Given the description of an element on the screen output the (x, y) to click on. 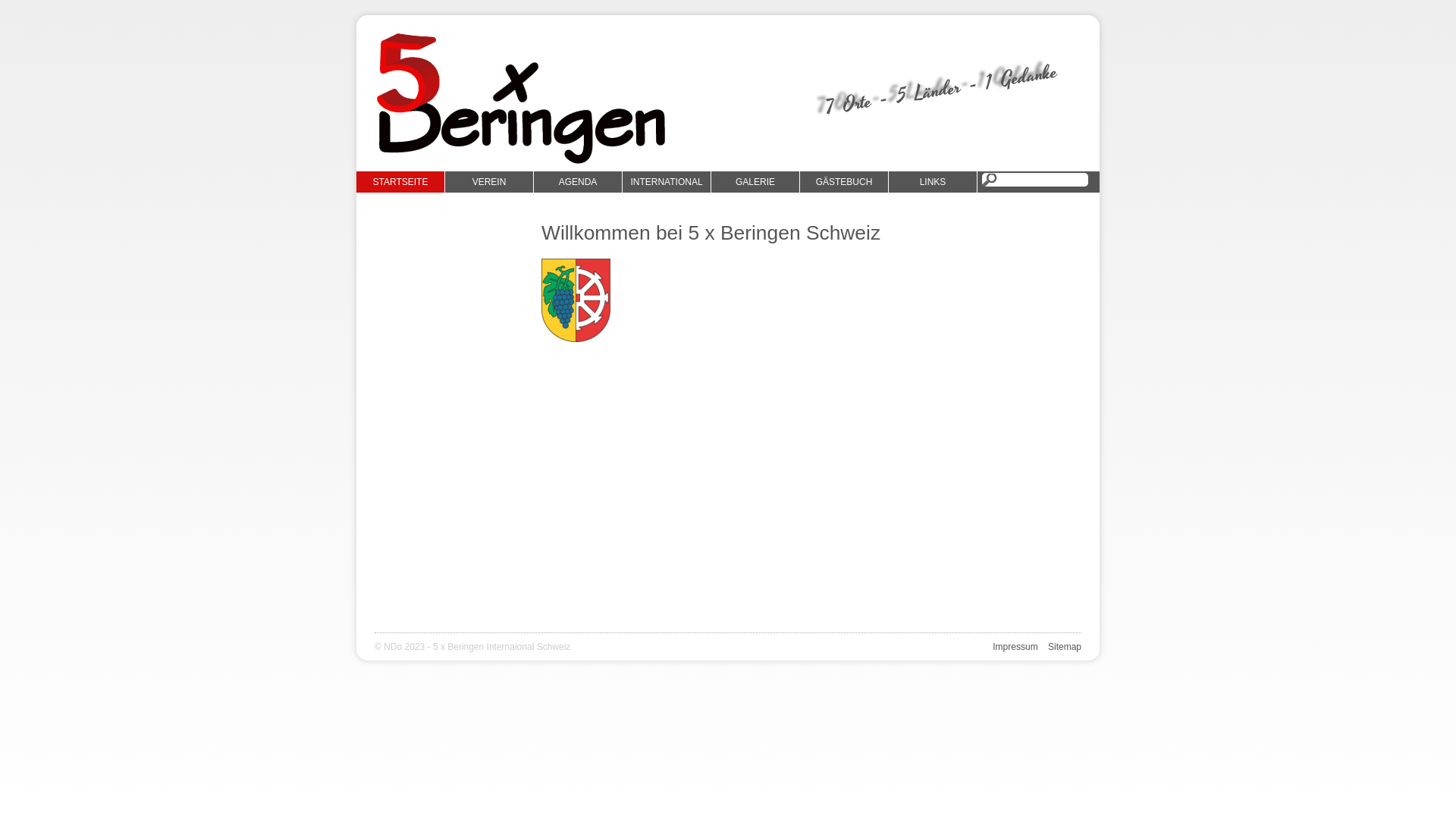
VEREIN Element type: text (489, 181)
GALERIE Element type: text (755, 181)
  Element type: text (984, 659)
Sitemap Element type: text (1064, 646)
Suchen Element type: text (25, 9)
  Element type: text (976, 179)
LINKS Element type: text (932, 181)
AGENDA Element type: text (577, 181)
INTERNATIONAL Element type: text (666, 181)
Impressum Element type: text (1014, 646)
Wappen Gemeinde Beringen Element type: hover (575, 300)
